Given the description of an element on the screen output the (x, y) to click on. 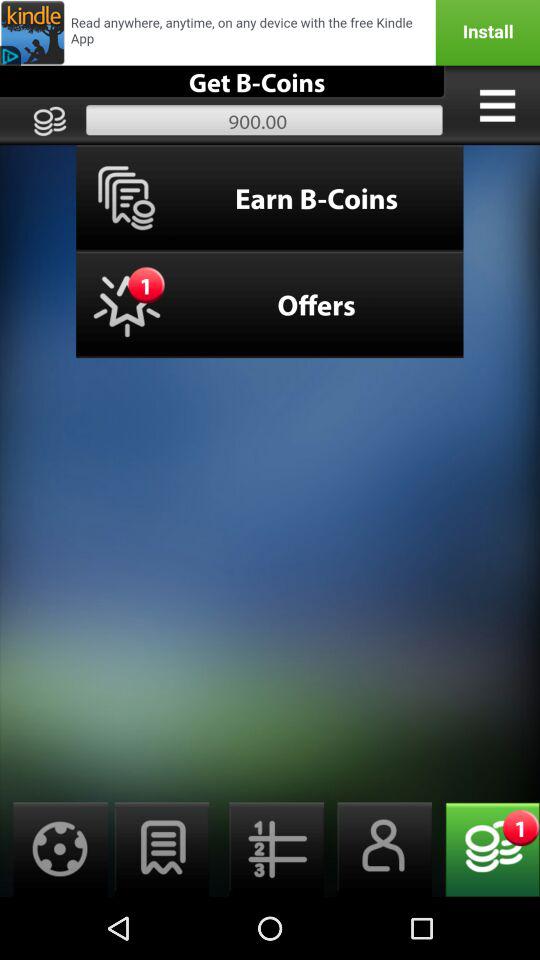
go to page (161, 849)
